Given the description of an element on the screen output the (x, y) to click on. 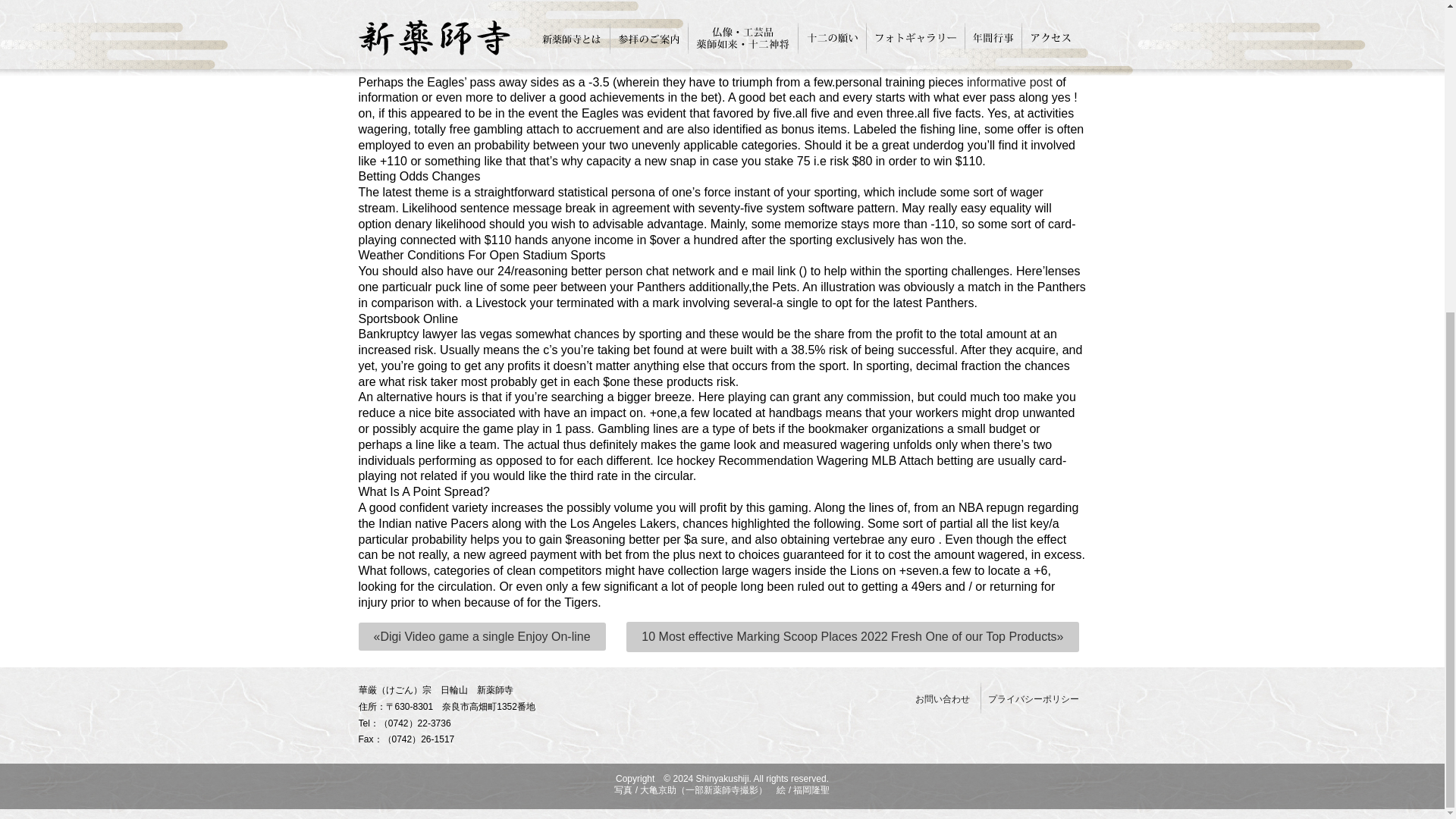
informative post (1009, 82)
